Given the description of an element on the screen output the (x, y) to click on. 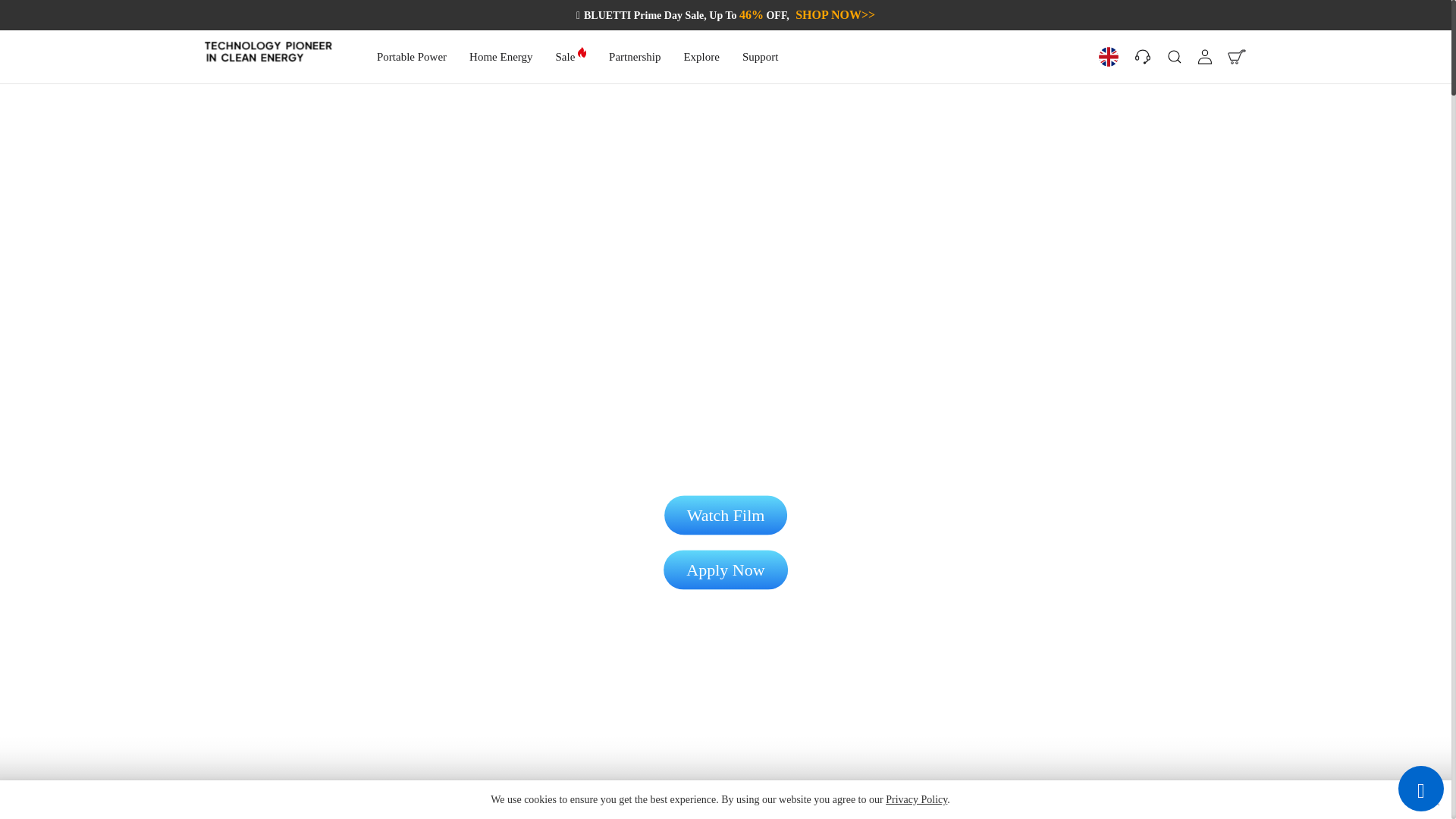
Portable Power (411, 56)
